Given the description of an element on the screen output the (x, y) to click on. 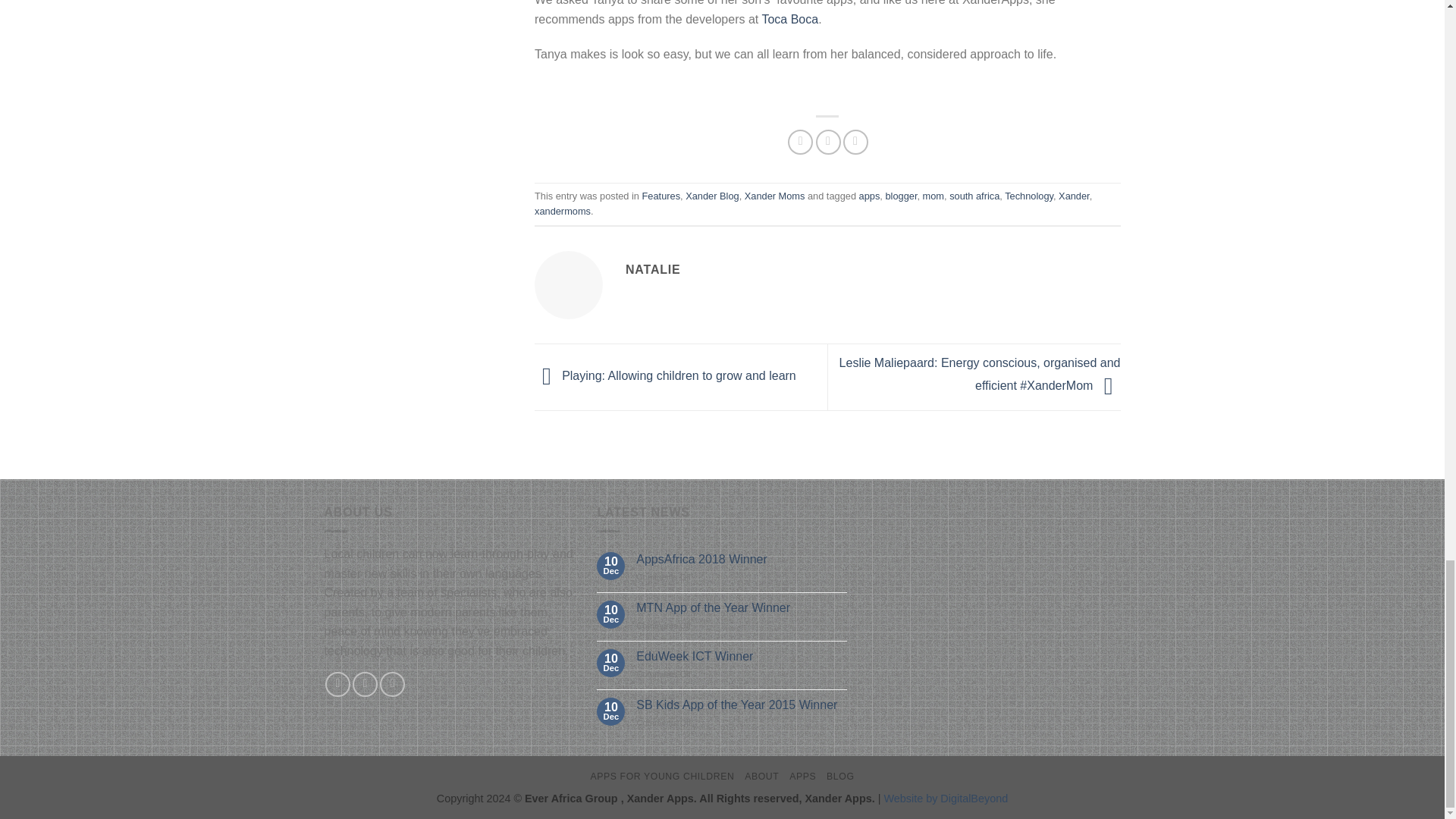
AppsAfrica 2018 Winner (741, 559)
Toca Boca (789, 19)
south africa (973, 195)
SB Kids App of the Year 2015 Winner (741, 704)
Technology (1028, 195)
Xander (1073, 195)
apps (869, 195)
Features (661, 195)
MTN App of the Year Winner (741, 607)
xandermoms (562, 211)
